Given the description of an element on the screen output the (x, y) to click on. 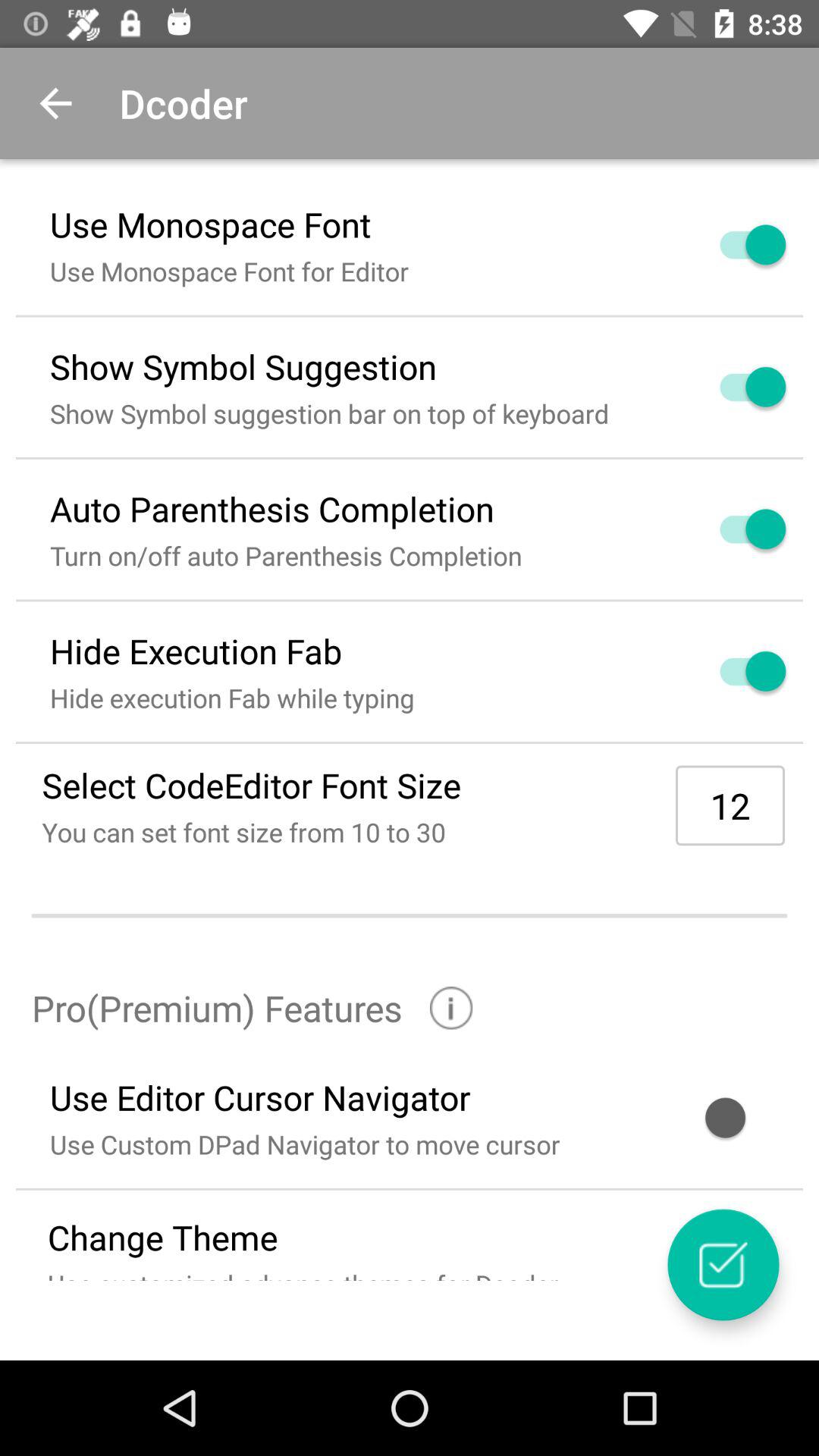
open item to the right of show symbol suggestion (734, 387)
